Given the description of an element on the screen output the (x, y) to click on. 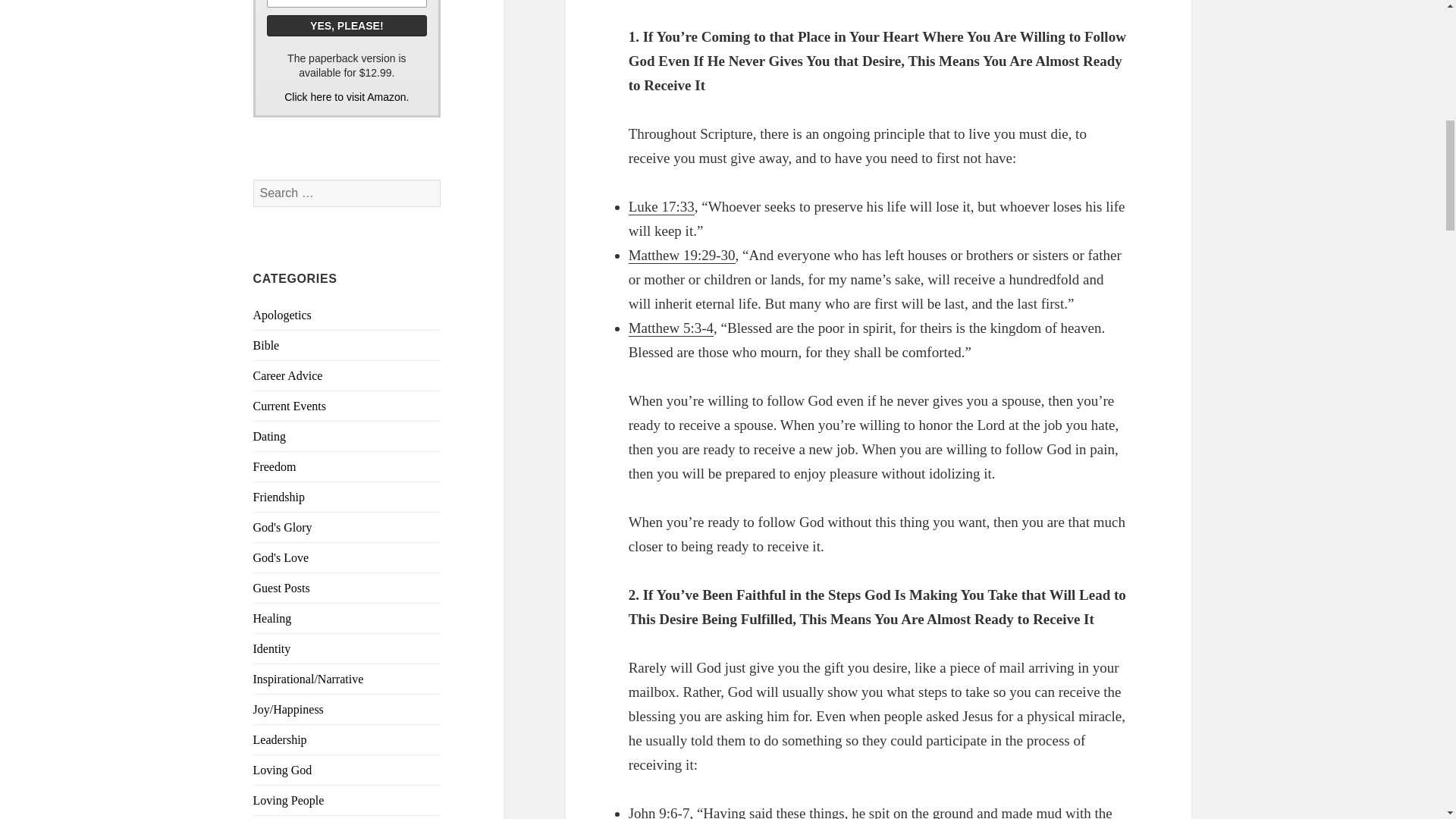
Freedom (275, 466)
God's Love (280, 557)
YES, PLEASE! (347, 25)
Dating (269, 436)
Click here to visit Amazon. (346, 96)
Leadership (280, 739)
Friendship (278, 496)
Loving God (283, 769)
God's Glory (283, 526)
